Given the description of an element on the screen output the (x, y) to click on. 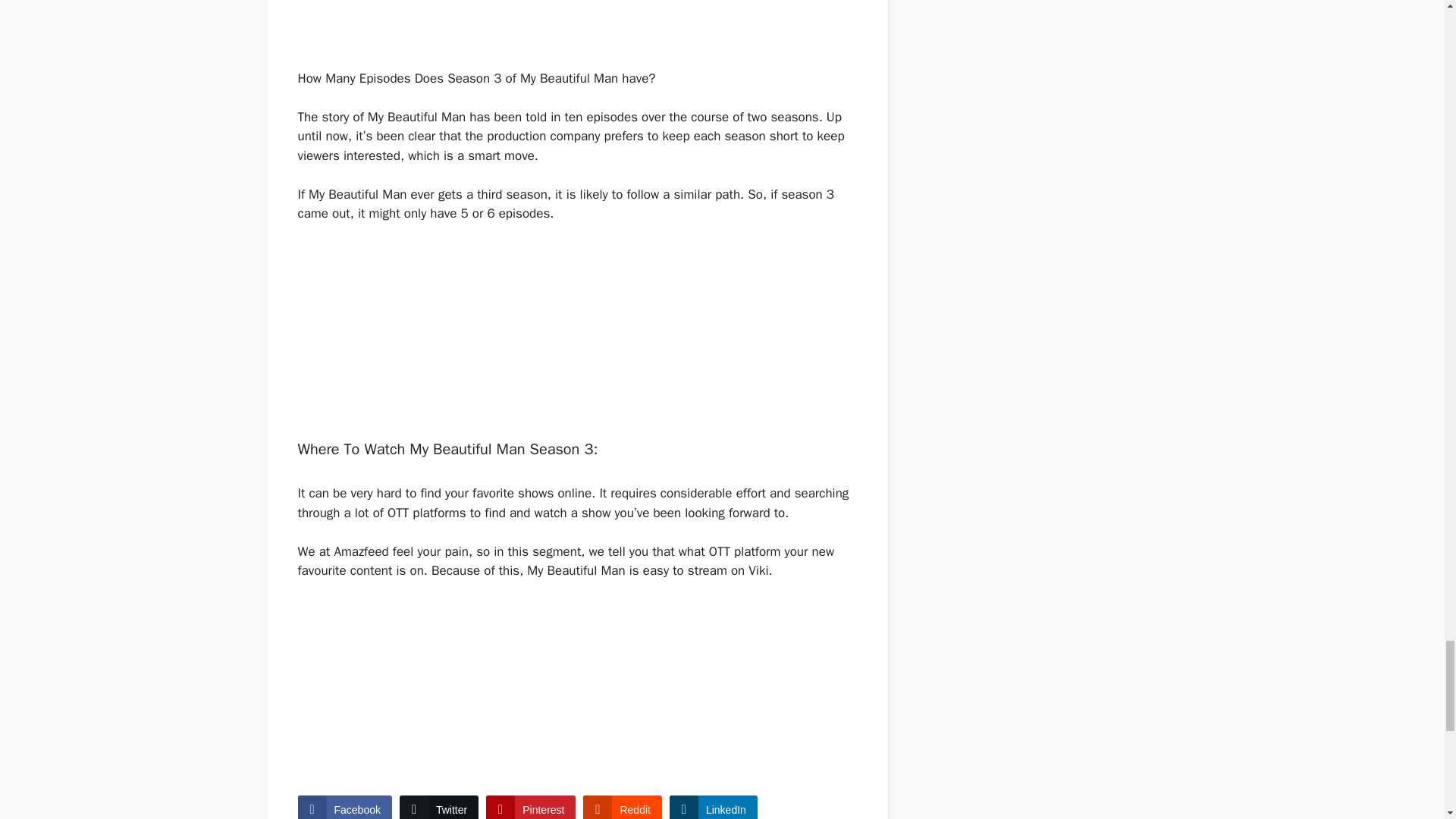
Facebook (344, 807)
Reddit (622, 807)
LinkedIn (713, 807)
Pinterest (530, 807)
Twitter (438, 807)
